Given the description of an element on the screen output the (x, y) to click on. 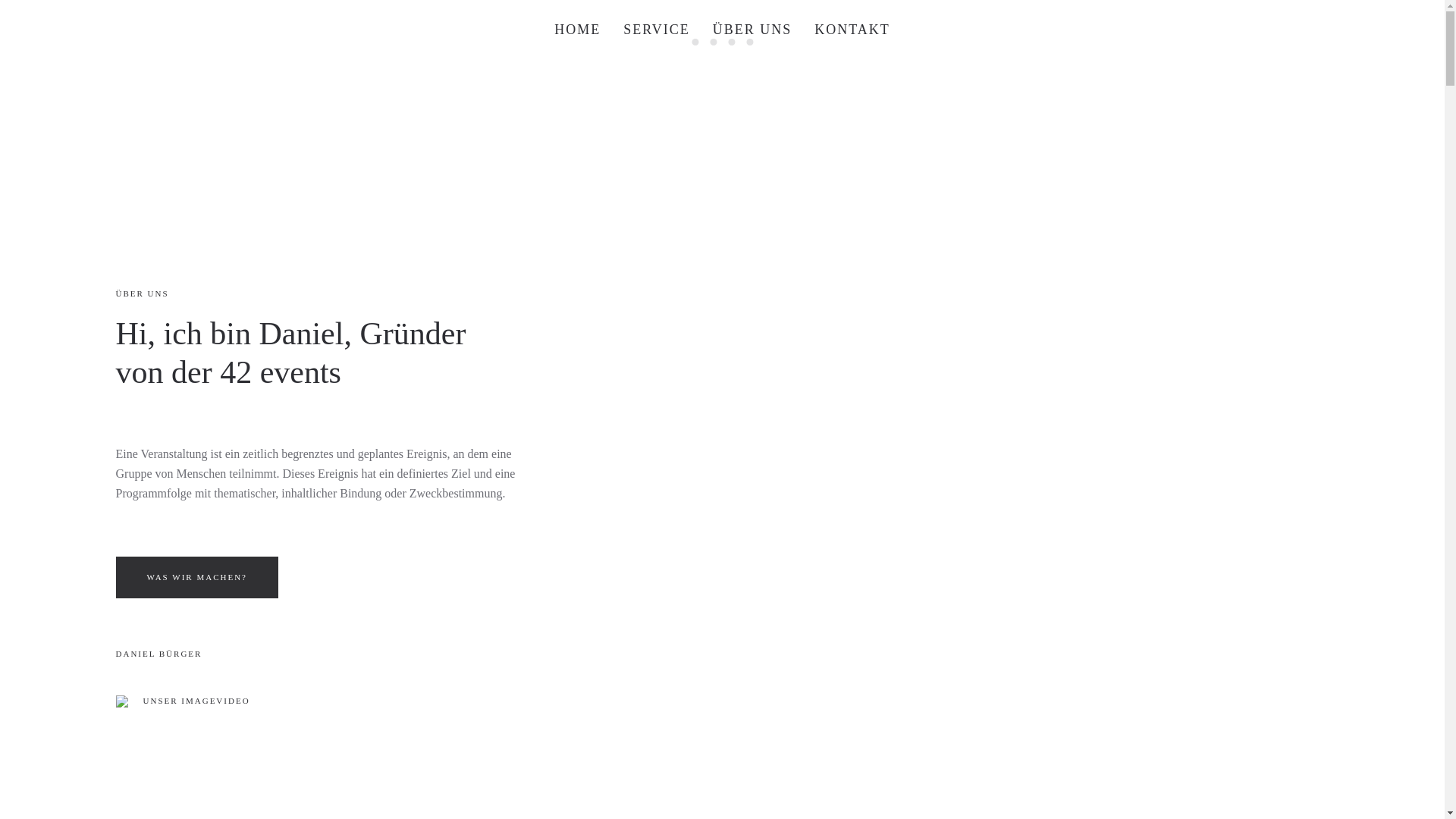
HOME Element type: text (576, 30)
KONTAKT Element type: text (852, 30)
Catering Element type: text (712, 41)
Event Orga Element type: text (694, 41)
UNSER IMAGEVIDEO Element type: text (182, 700)
WAS WIR MACHEN? Element type: text (196, 577)
SERVICE Element type: text (656, 30)
Street Food Element type: text (731, 41)
Technik Element type: text (749, 41)
